Given the description of an element on the screen output the (x, y) to click on. 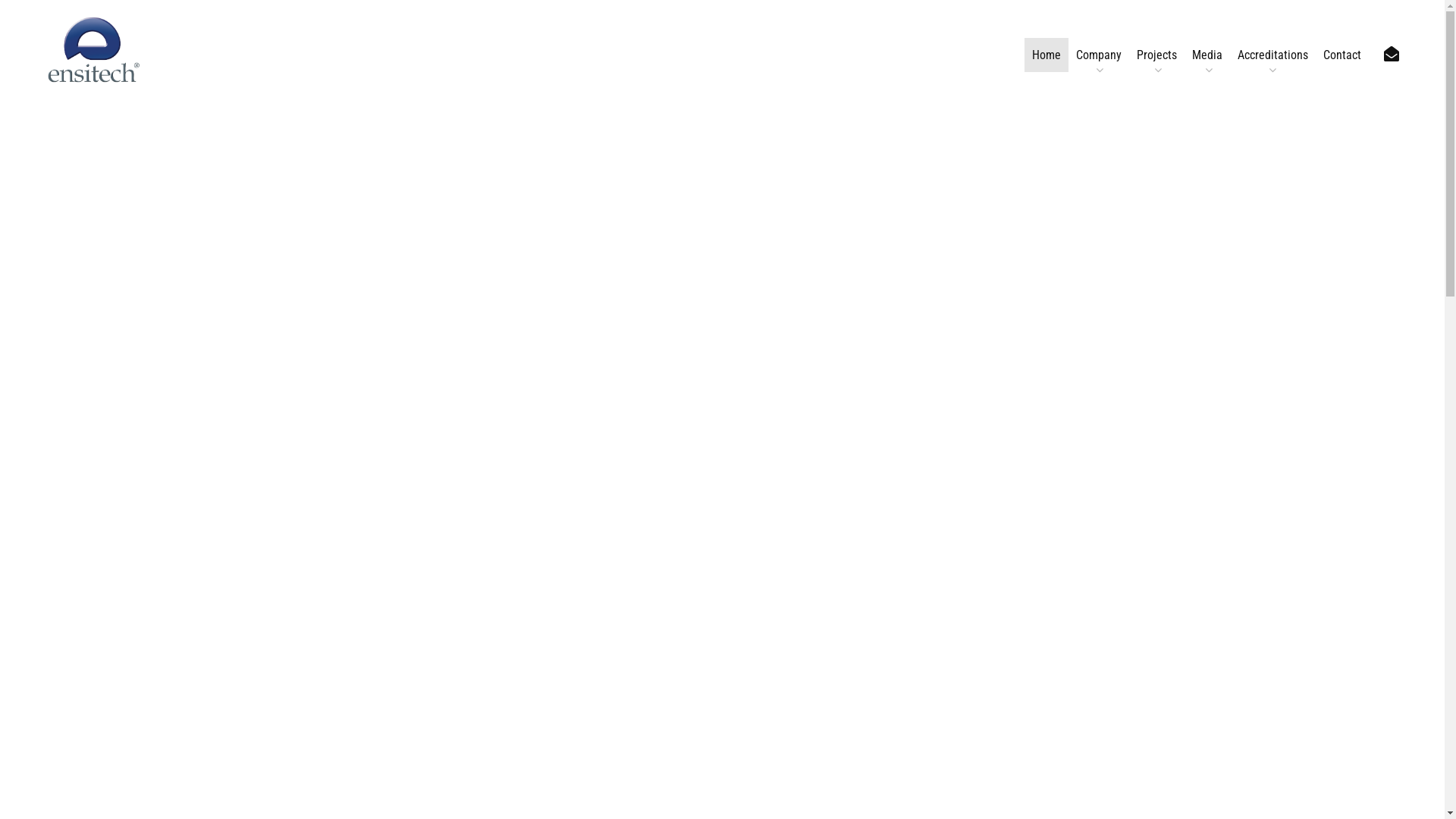
Media Element type: text (1207, 54)
Home Element type: text (1046, 54)
Contact Element type: text (1341, 54)
Projects Element type: text (1156, 54)
Company Element type: text (1098, 54)
Accreditations Element type: text (1272, 54)
